Given the description of an element on the screen output the (x, y) to click on. 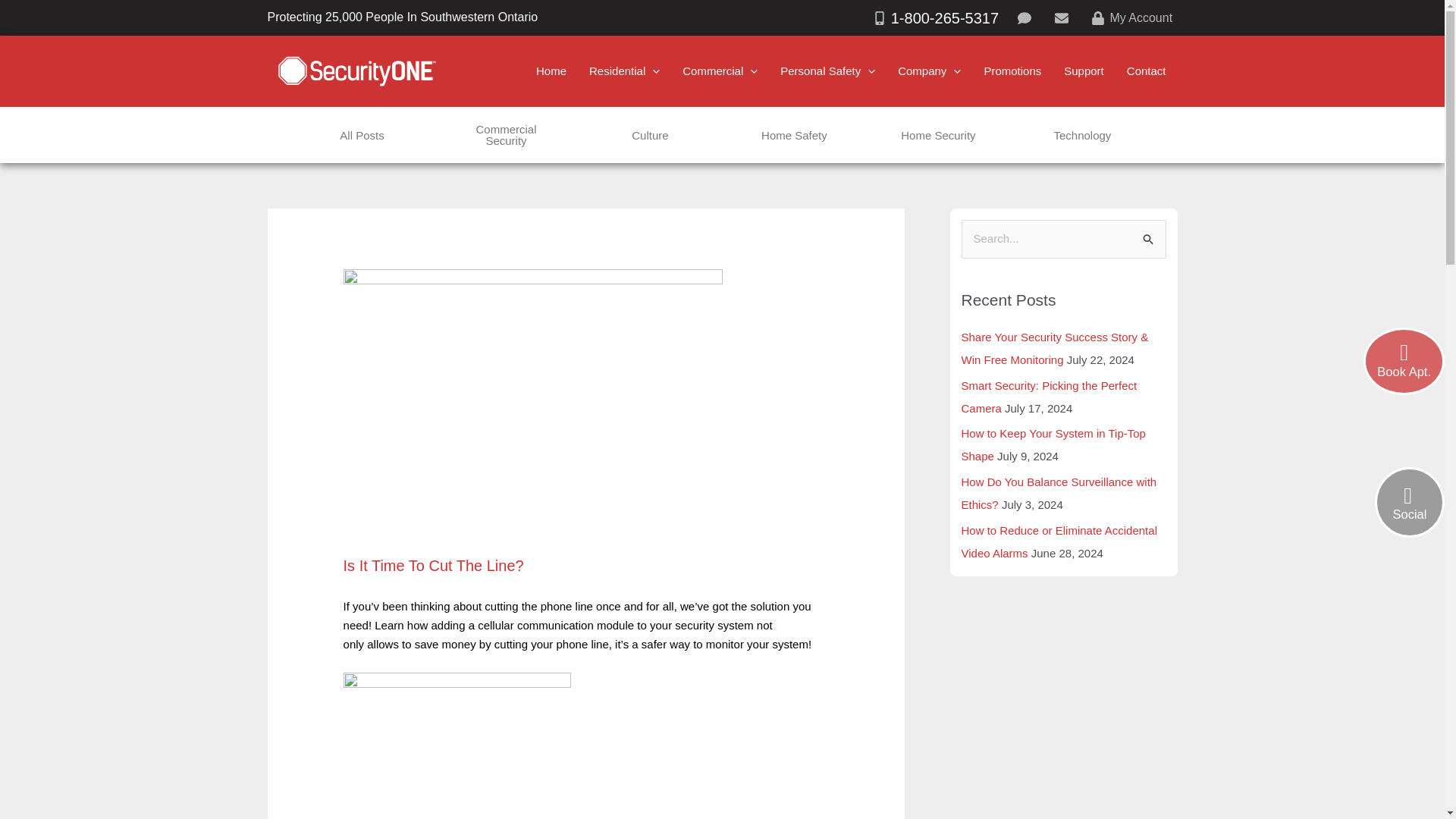
Support (1083, 71)
Company (929, 71)
Commercial Security (505, 134)
Personal Safety (827, 71)
Residential (624, 71)
All Posts (361, 134)
Promotions (1012, 71)
Contact (1146, 71)
1-800-265-5317 (935, 17)
Search (1148, 235)
